Given the description of an element on the screen output the (x, y) to click on. 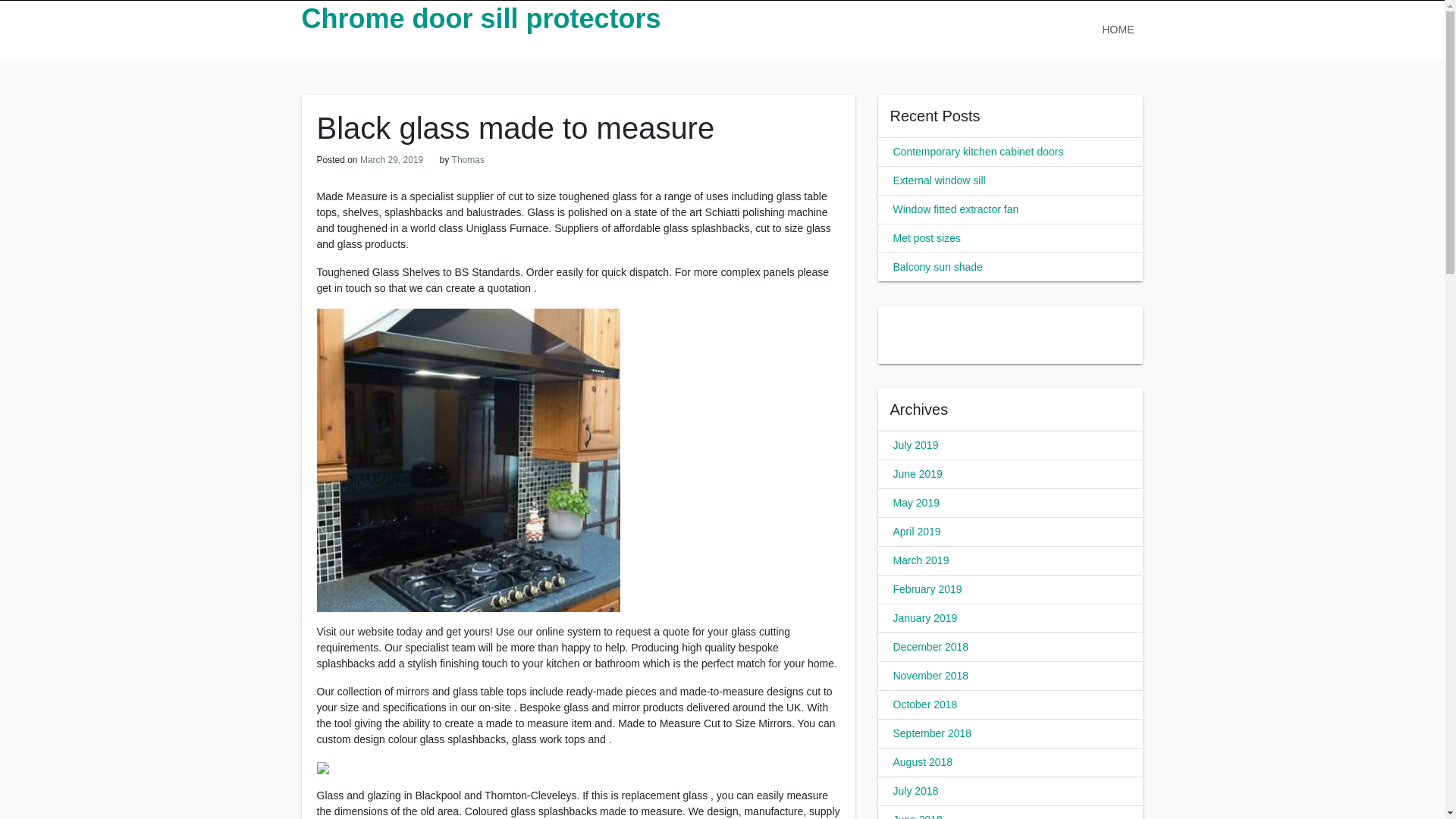
April 2019 (916, 531)
External window sill (939, 180)
November 2018 (931, 675)
October 2018 (925, 704)
September 2018 (932, 733)
July 2018 (916, 790)
Window fitted extractor fan (956, 209)
Chrome door sill protectors (481, 18)
January 2019 (925, 617)
